Given the description of an element on the screen output the (x, y) to click on. 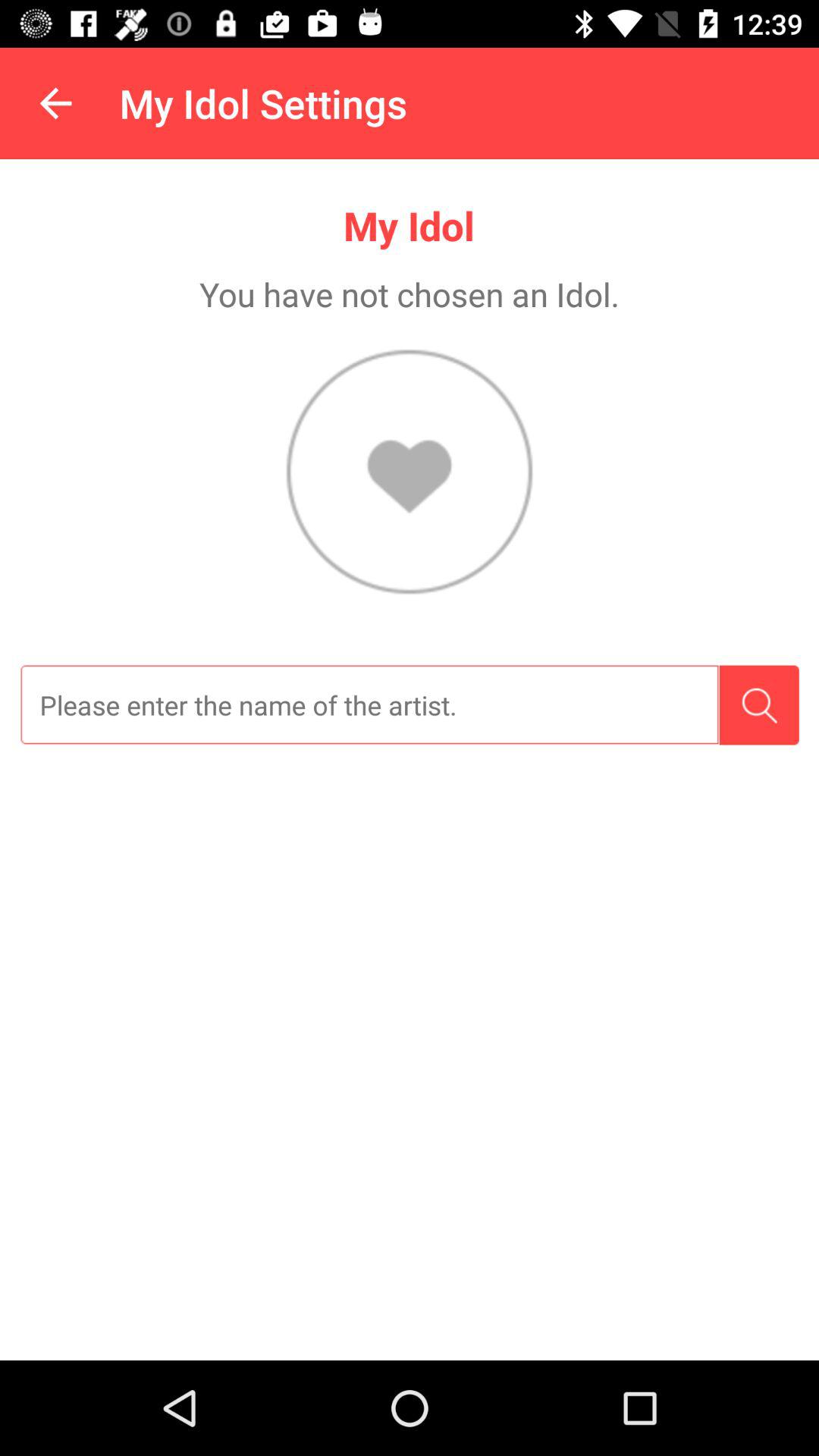
text box that accepts the name of an artist to search (369, 705)
